Given the description of an element on the screen output the (x, y) to click on. 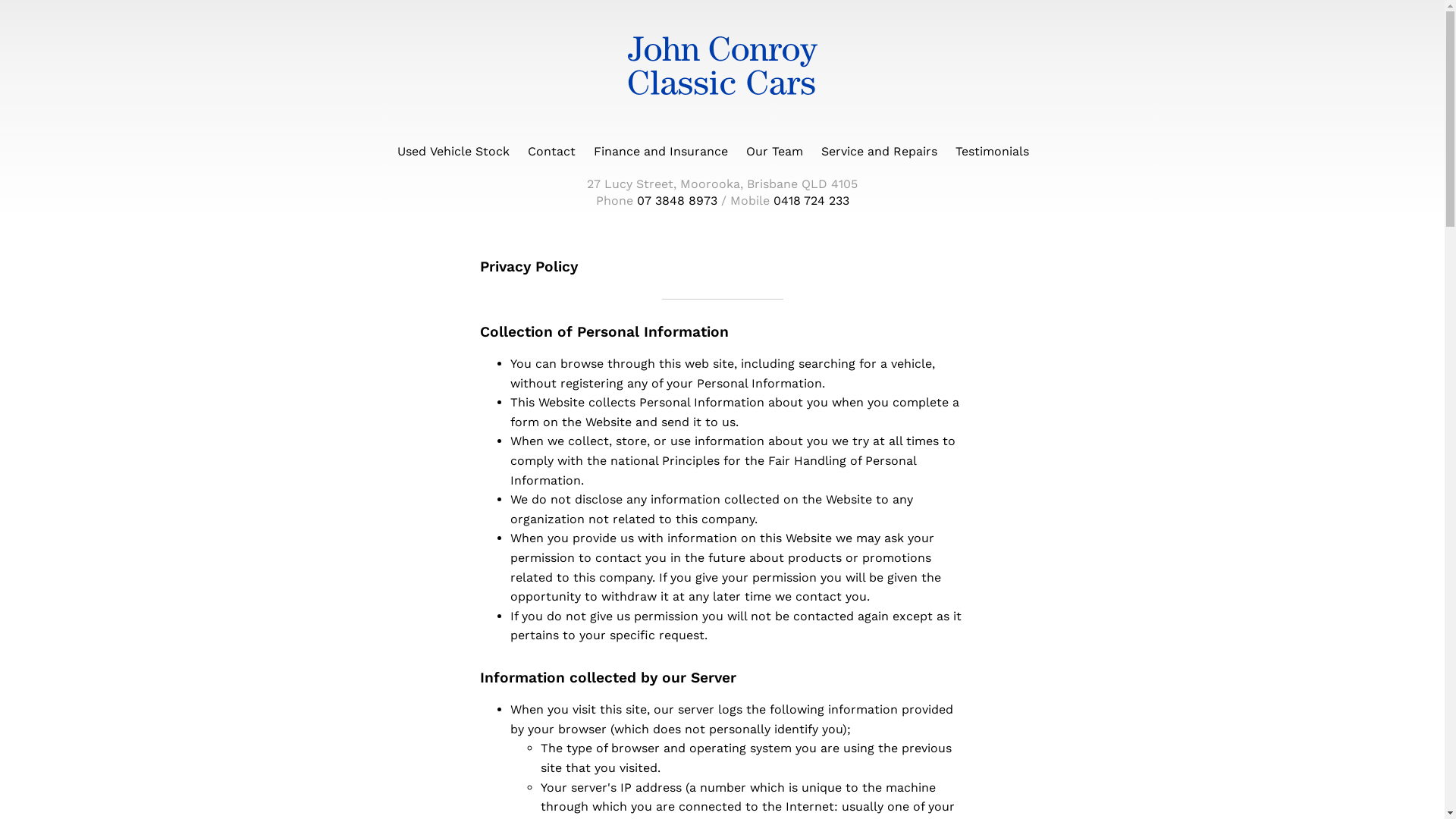
Finance and Insurance Element type: text (660, 151)
Service and Repairs Element type: text (879, 151)
Our Team Element type: text (774, 151)
Used Vehicle Stock Element type: text (453, 151)
Testimonials Element type: text (992, 151)
0418 724 233 Element type: text (808, 200)
Contact Element type: text (551, 151)
07 3848 8973 Element type: text (674, 200)
